Given the description of an element on the screen output the (x, y) to click on. 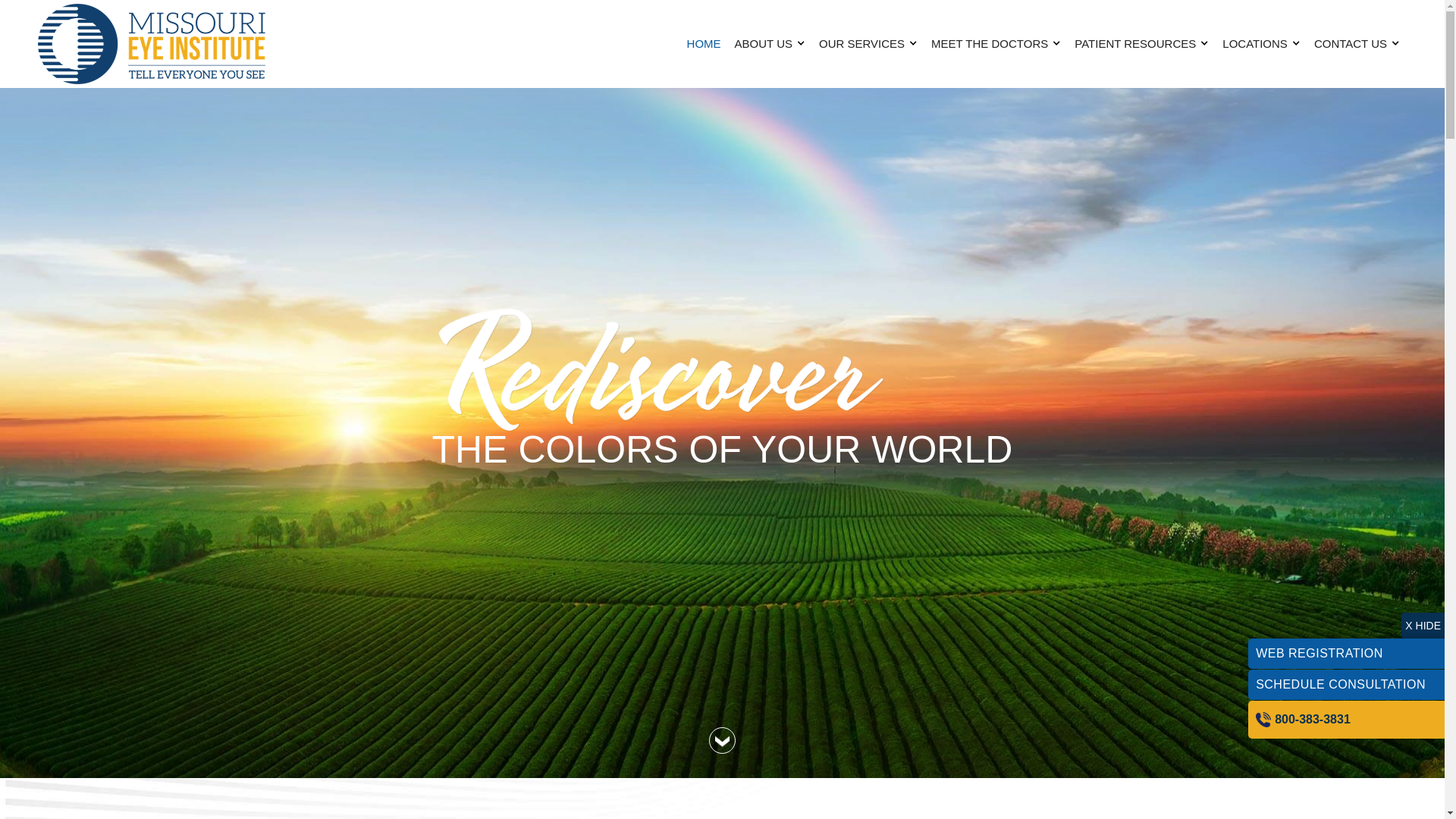
CONTACT US (1356, 43)
OUR SERVICES (868, 43)
ABOUT US (770, 43)
PATIENT RESOURCES (1141, 43)
HOME (703, 43)
LOCATIONS (1261, 43)
MEET THE DOCTORS (995, 43)
